Given the description of an element on the screen output the (x, y) to click on. 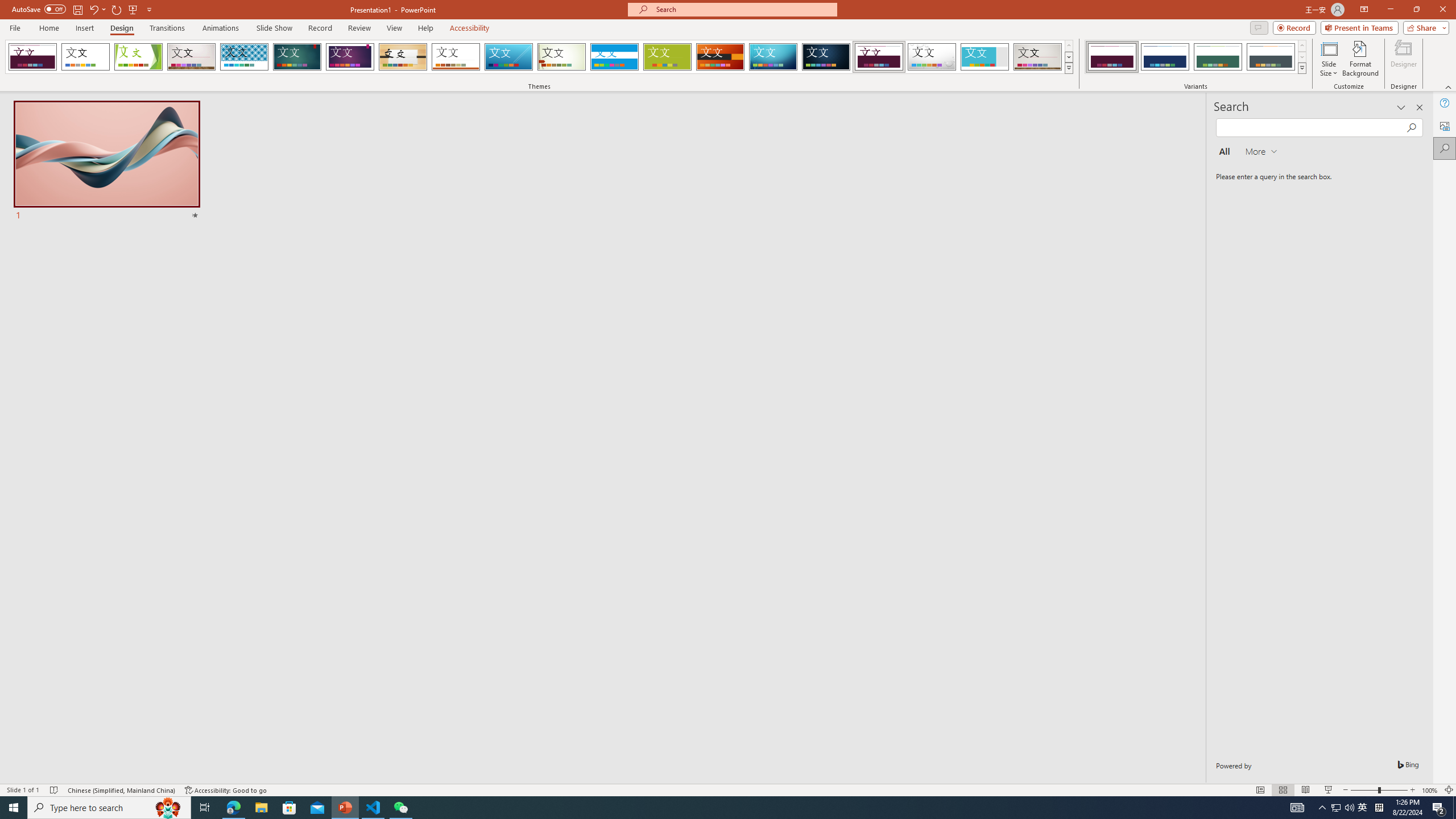
Berlin (720, 56)
Retrospect (455, 56)
